Given the description of an element on the screen output the (x, y) to click on. 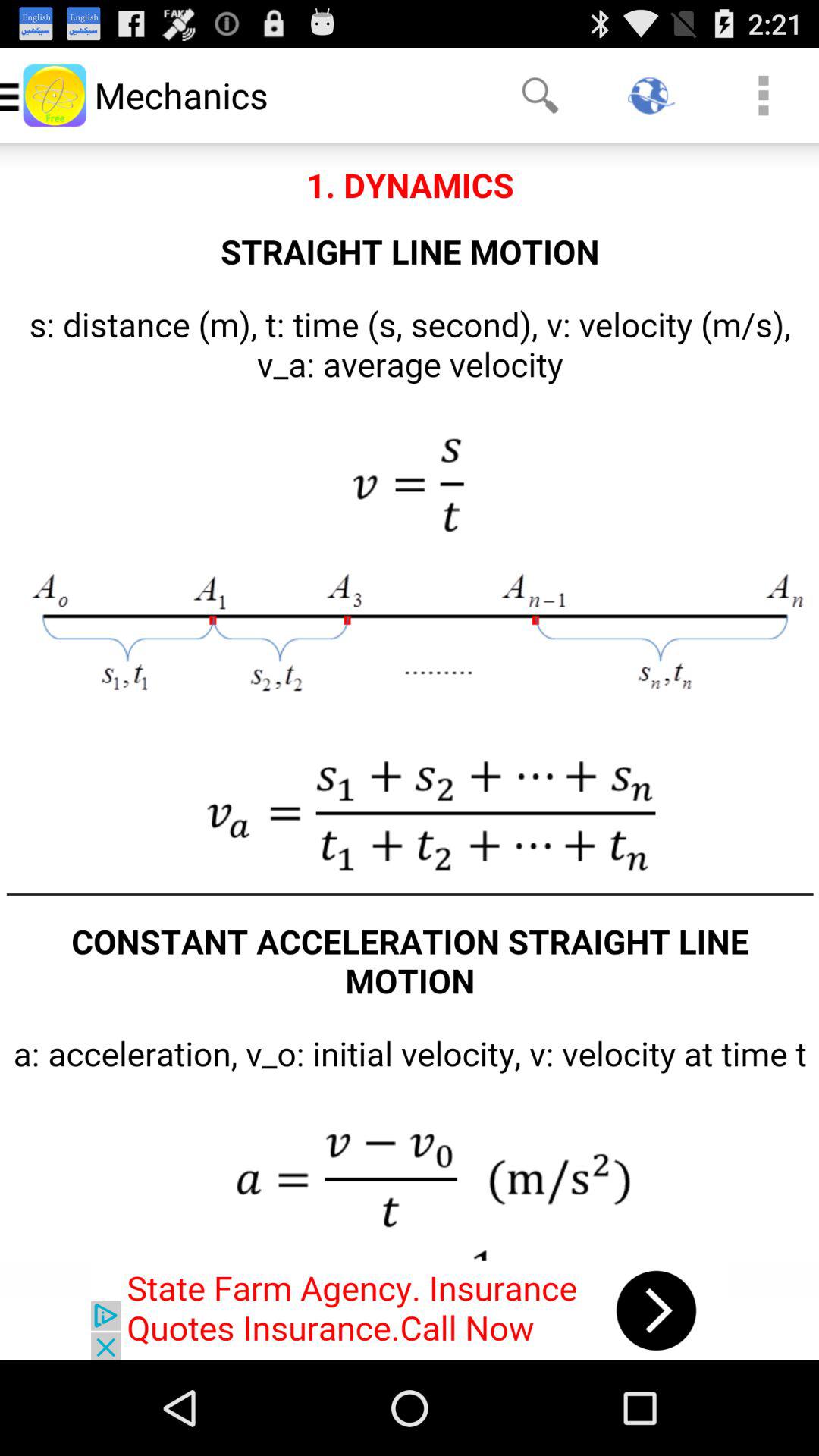
advertisement page (409, 1310)
